Given the description of an element on the screen output the (x, y) to click on. 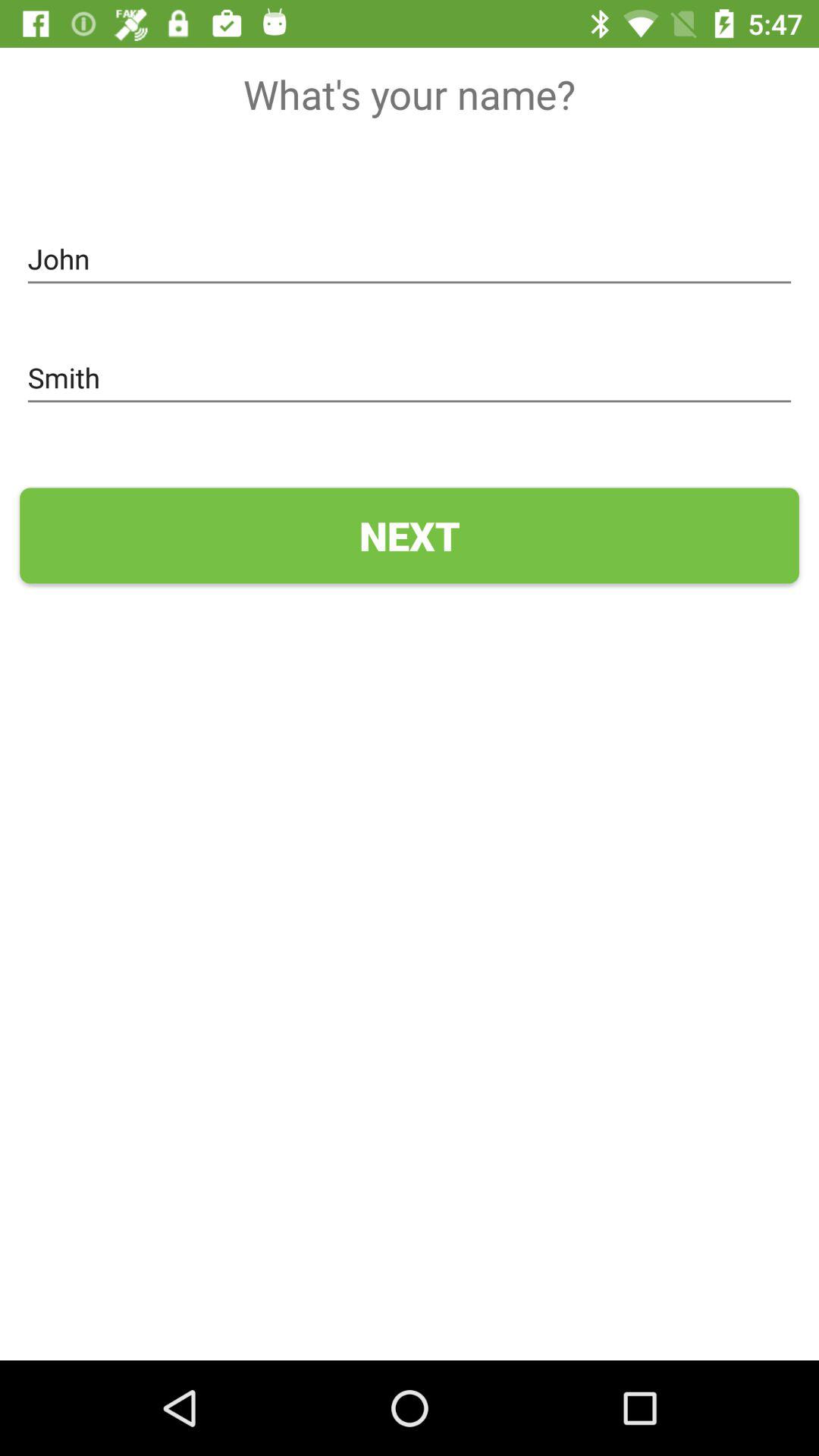
swipe to the next item (409, 535)
